Given the description of an element on the screen output the (x, y) to click on. 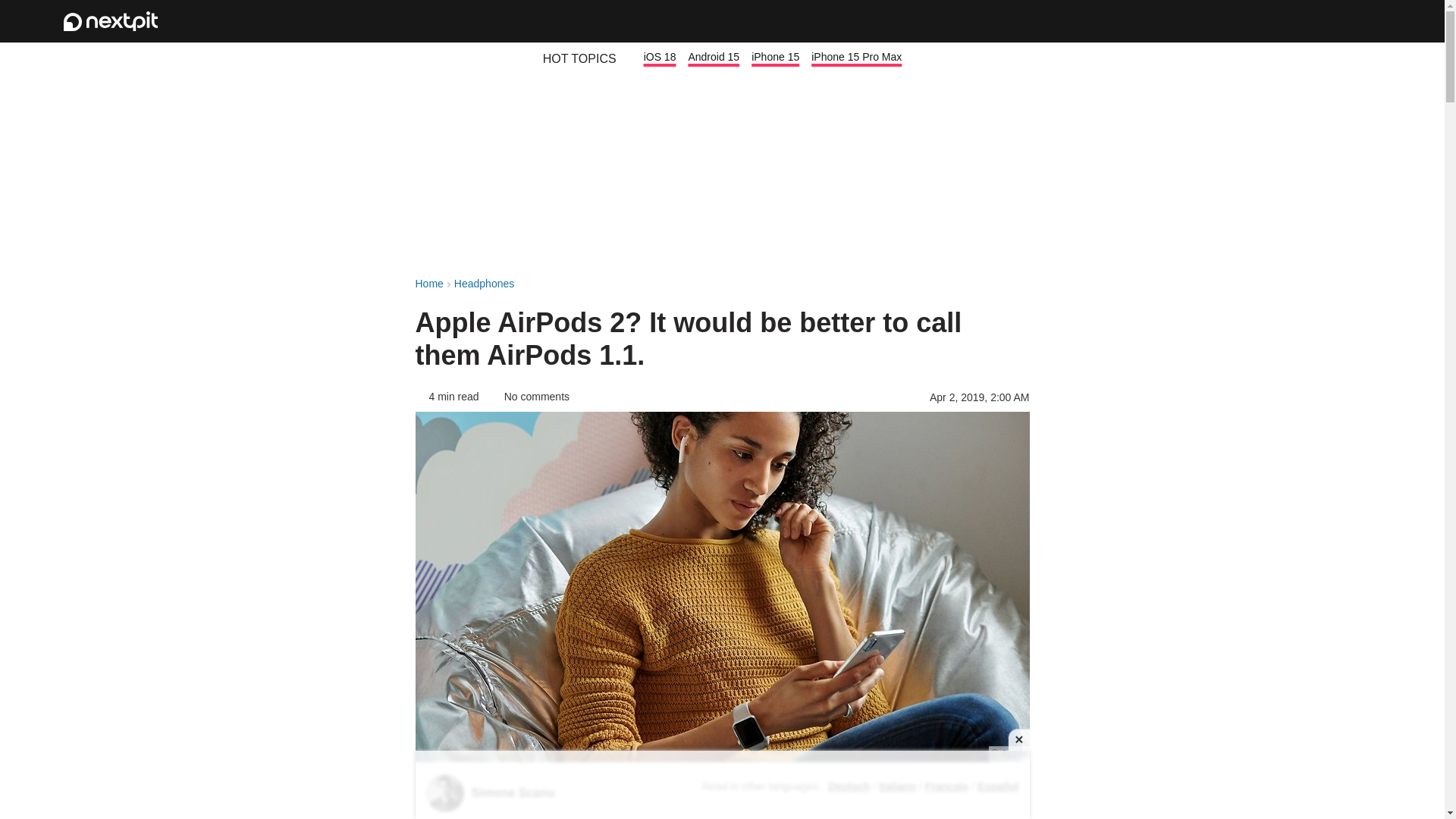
To the nextpit homepage (110, 21)
4 min read (446, 396)
Read this article in Spanish (996, 786)
Read this article in German (848, 786)
Read this article in Italian (897, 786)
Apr 2, 2019, 2:00:00 AM (979, 397)
Read this article in French (946, 786)
Login (1321, 21)
